Given the description of an element on the screen output the (x, y) to click on. 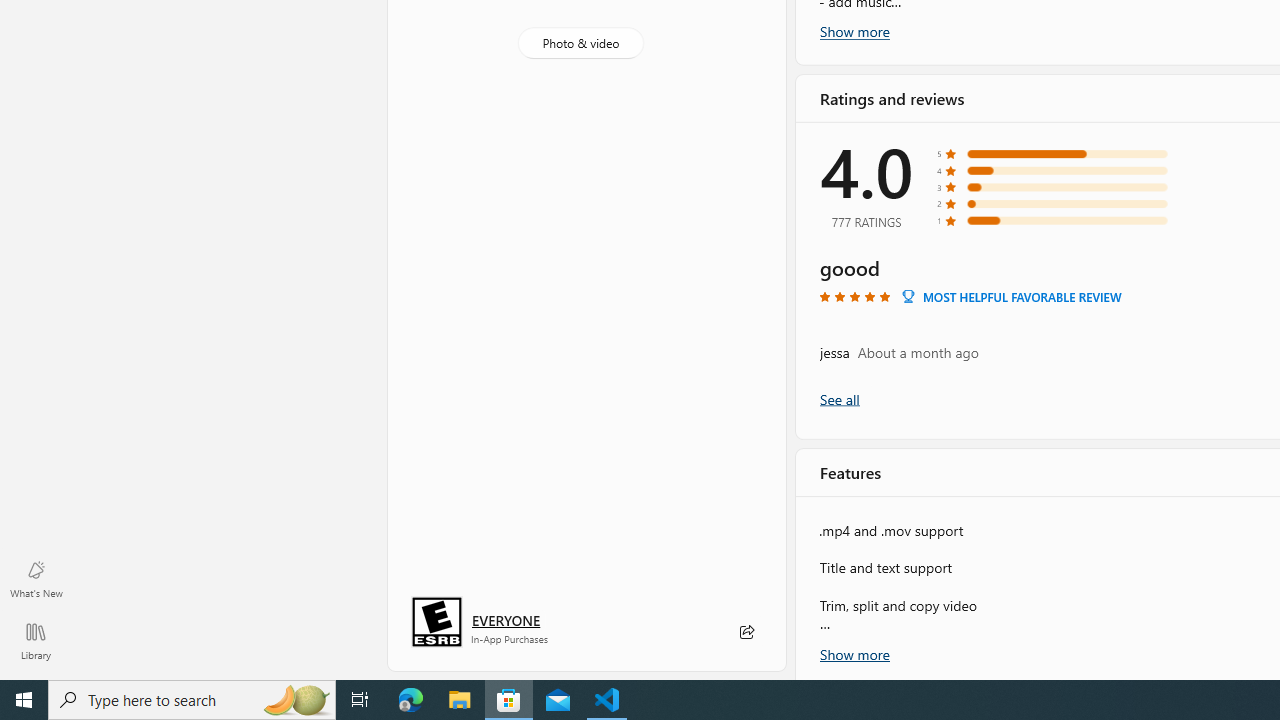
Library (35, 640)
Age rating: EVERYONE. Click for more information. (506, 619)
Show more (854, 652)
What's New (35, 578)
Photo & video (579, 43)
Share (746, 632)
Show all ratings and reviews (838, 398)
